Given the description of an element on the screen output the (x, y) to click on. 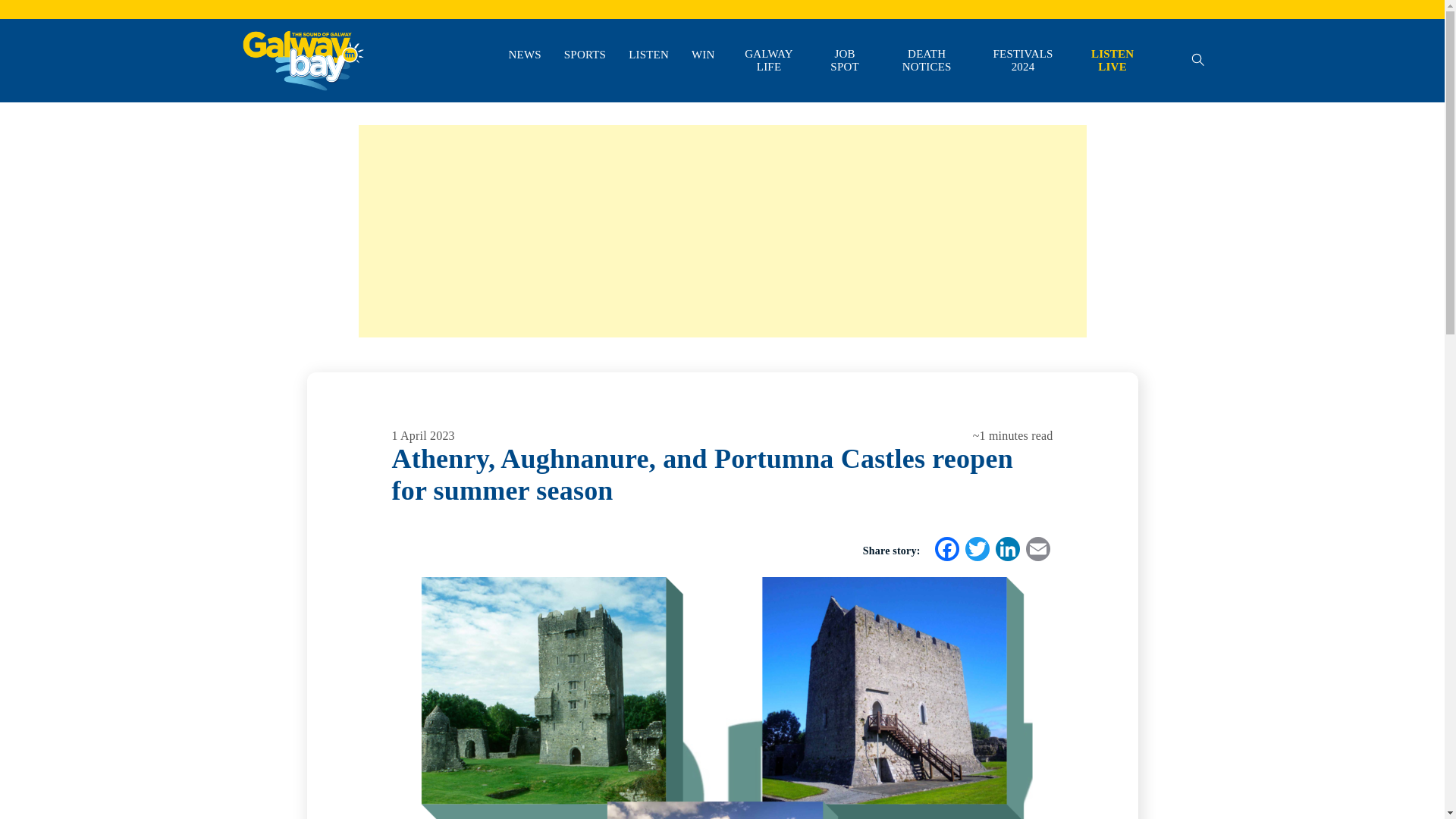
LISTEN LIVE (1111, 60)
LinkedIn (1006, 551)
Galway Bay FM (279, 112)
Facebook (945, 551)
LISTEN (648, 54)
FESTIVALS 2024 (1023, 60)
Twitter (975, 551)
LinkedIn (1006, 551)
WIN (702, 54)
DEATH NOTICES (926, 60)
Twitter (975, 551)
Email (1037, 551)
Email (1037, 551)
NEWS (524, 54)
